Given the description of an element on the screen output the (x, y) to click on. 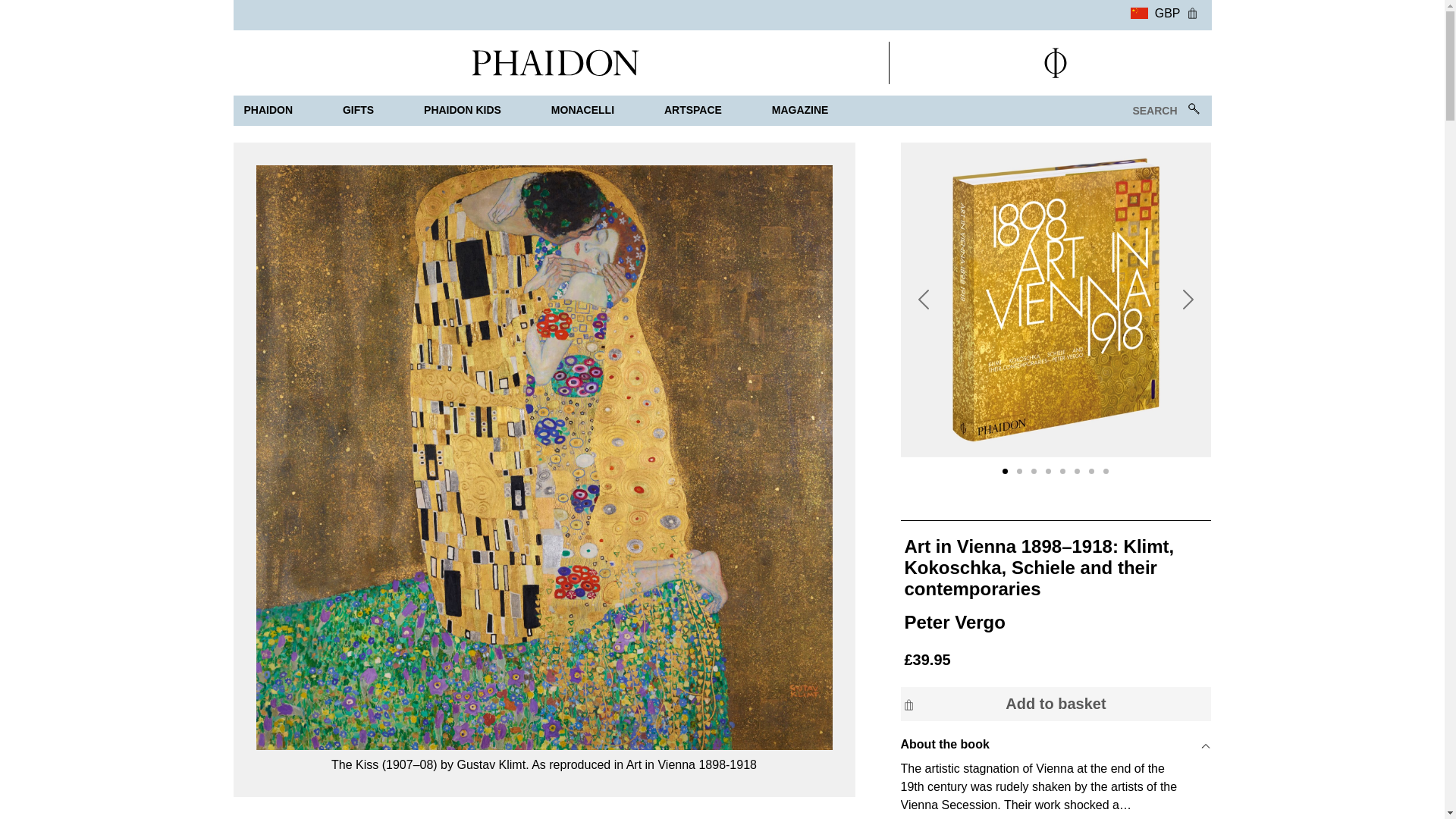
GBP (1155, 11)
PHAIDON KIDS (462, 110)
PHAIDON (268, 110)
GIFTS (358, 110)
MONACELLI (582, 110)
